Given the description of an element on the screen output the (x, y) to click on. 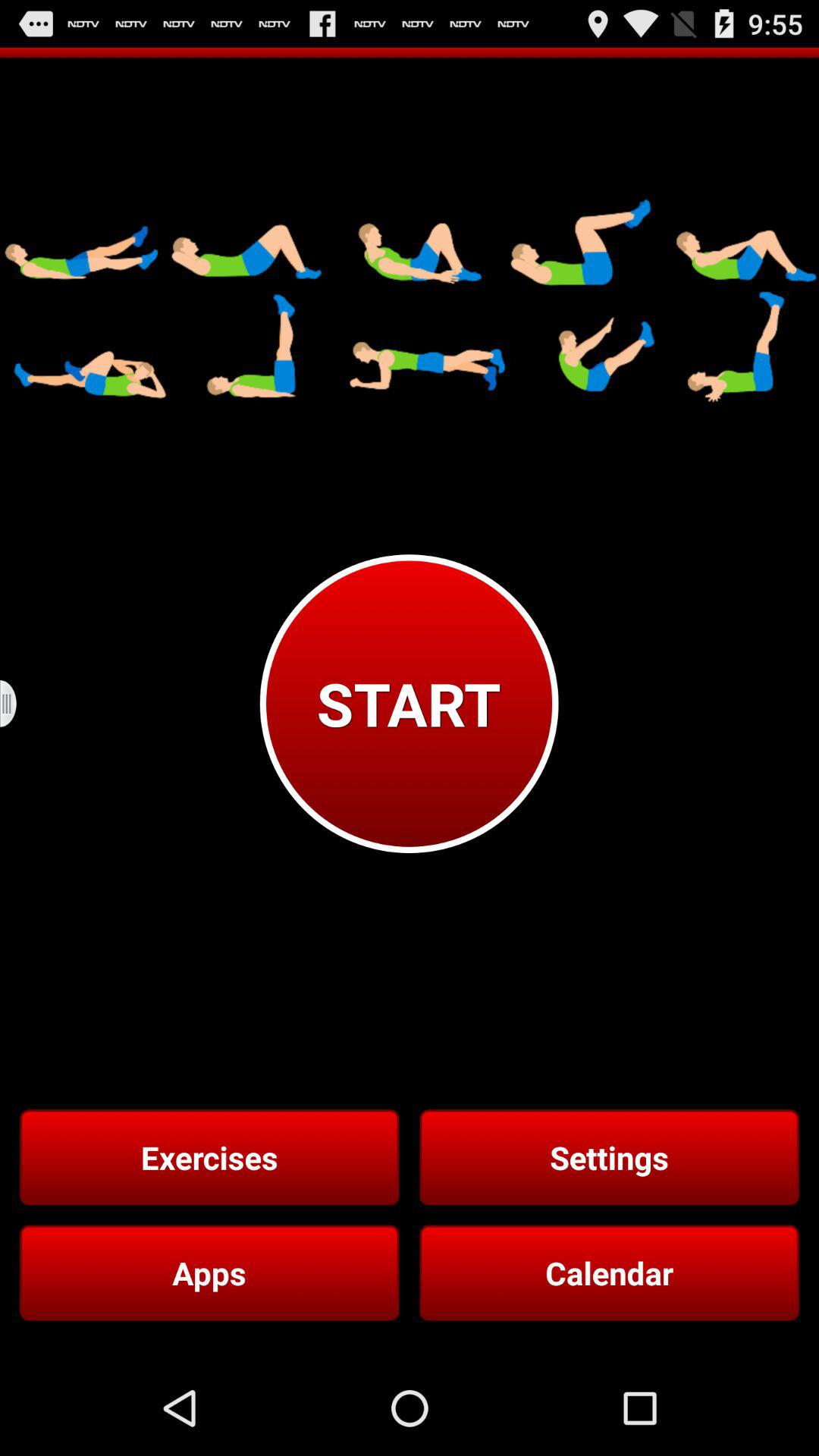
choose button next to the apps (609, 1272)
